Given the description of an element on the screen output the (x, y) to click on. 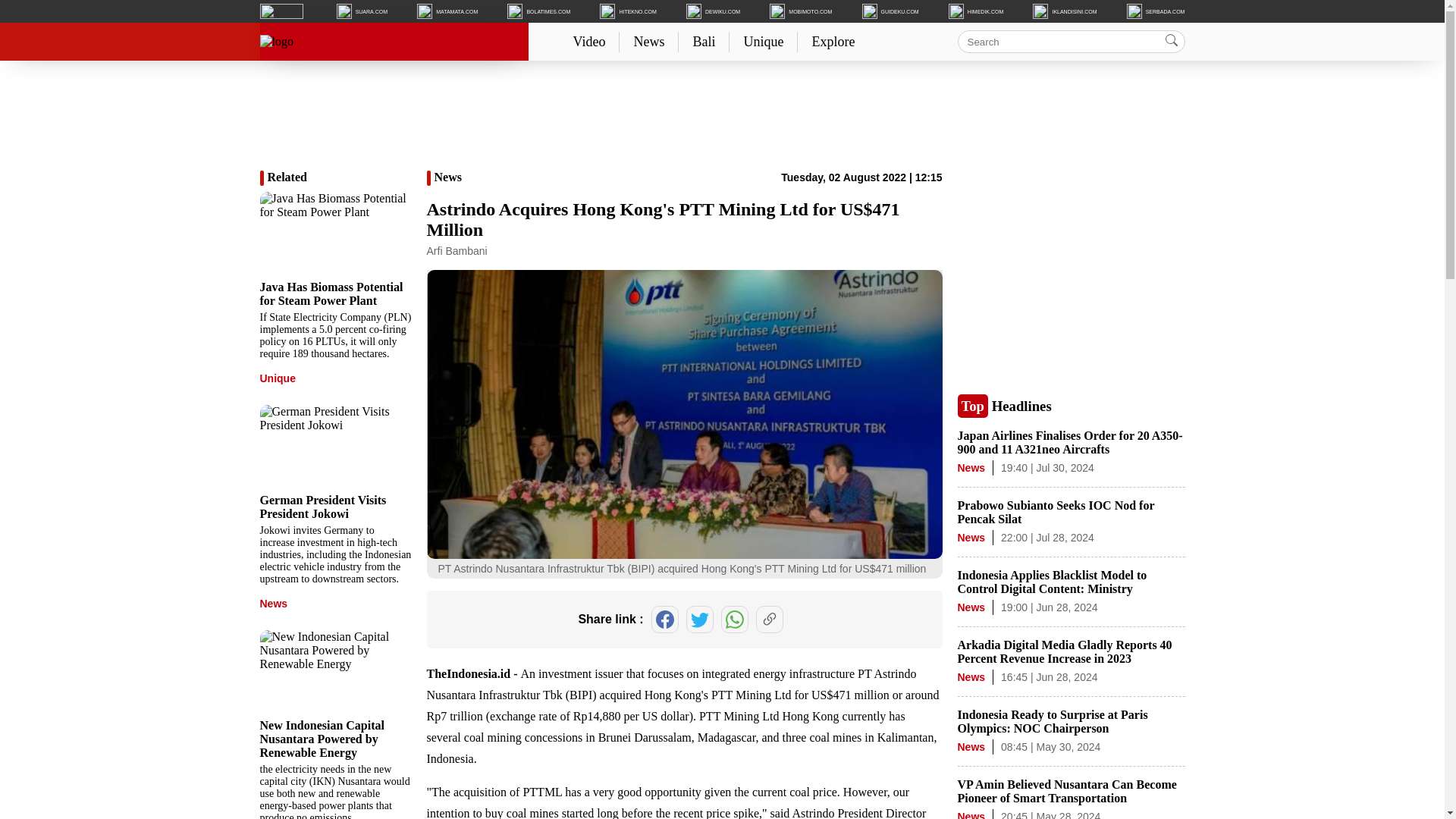
German President Visits President Jokowi (334, 446)
MATAMATA.COM (446, 11)
BIPI (580, 694)
Bali (703, 40)
IKLANDISINI.COM (1064, 11)
HIMEDIK.COM (976, 11)
New Indonesian Capital Nusantara Powered by Renewable Energy (334, 671)
Video (588, 40)
Explore (832, 40)
HITEKNO.COM (627, 11)
German President Visits President Jokowi (322, 506)
GUIDEKU.COM (889, 11)
Unique (762, 40)
Java Has Biomass Potential for Steam Power Plant (334, 233)
Java Has Biomass Potential for Steam Power Plant (331, 293)
